Given the description of an element on the screen output the (x, y) to click on. 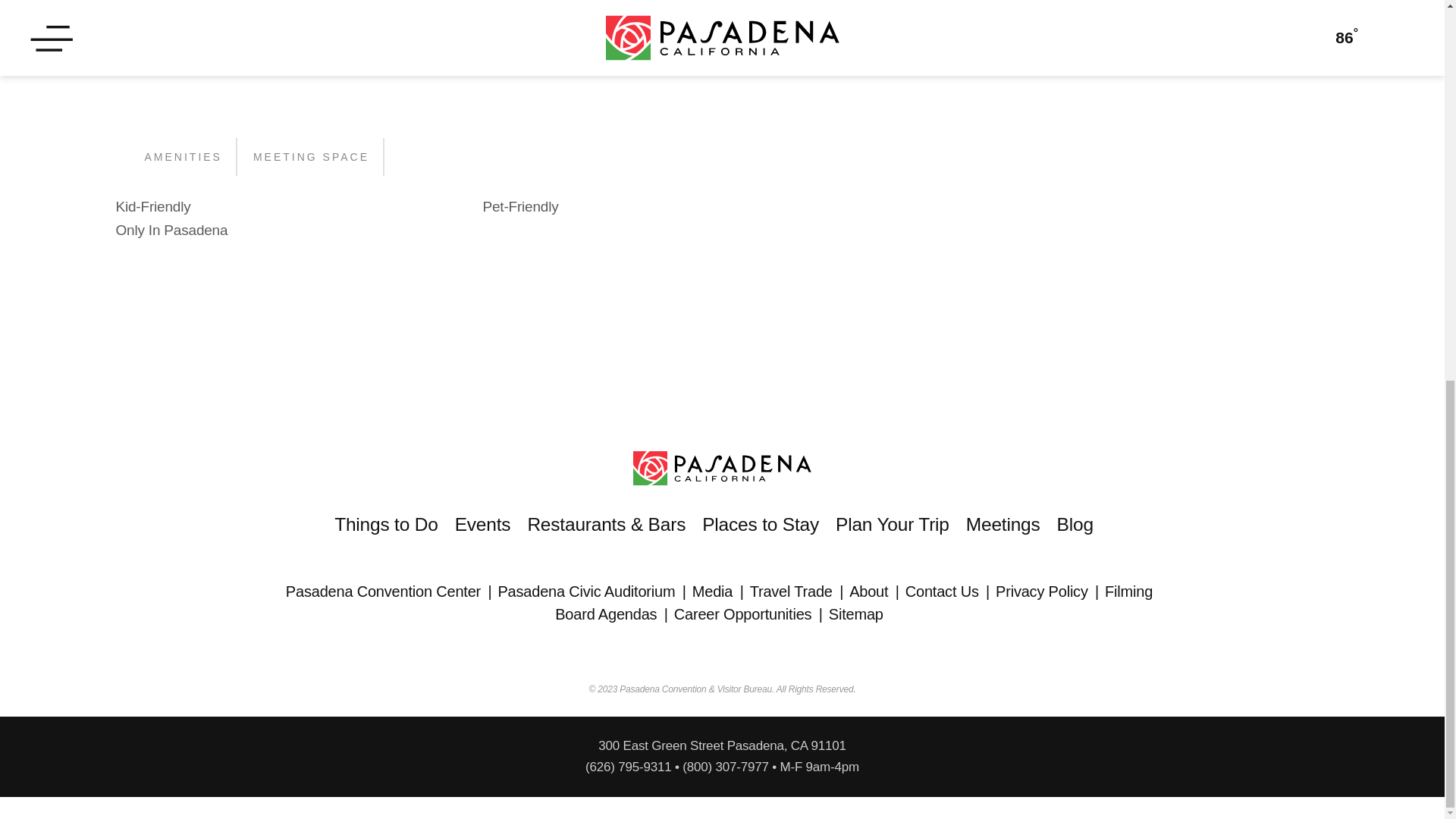
Learn more (466, 45)
Events (490, 528)
Things to Do (394, 528)
AMENITIES (182, 157)
MEETING SPACE (311, 157)
